Given the description of an element on the screen output the (x, y) to click on. 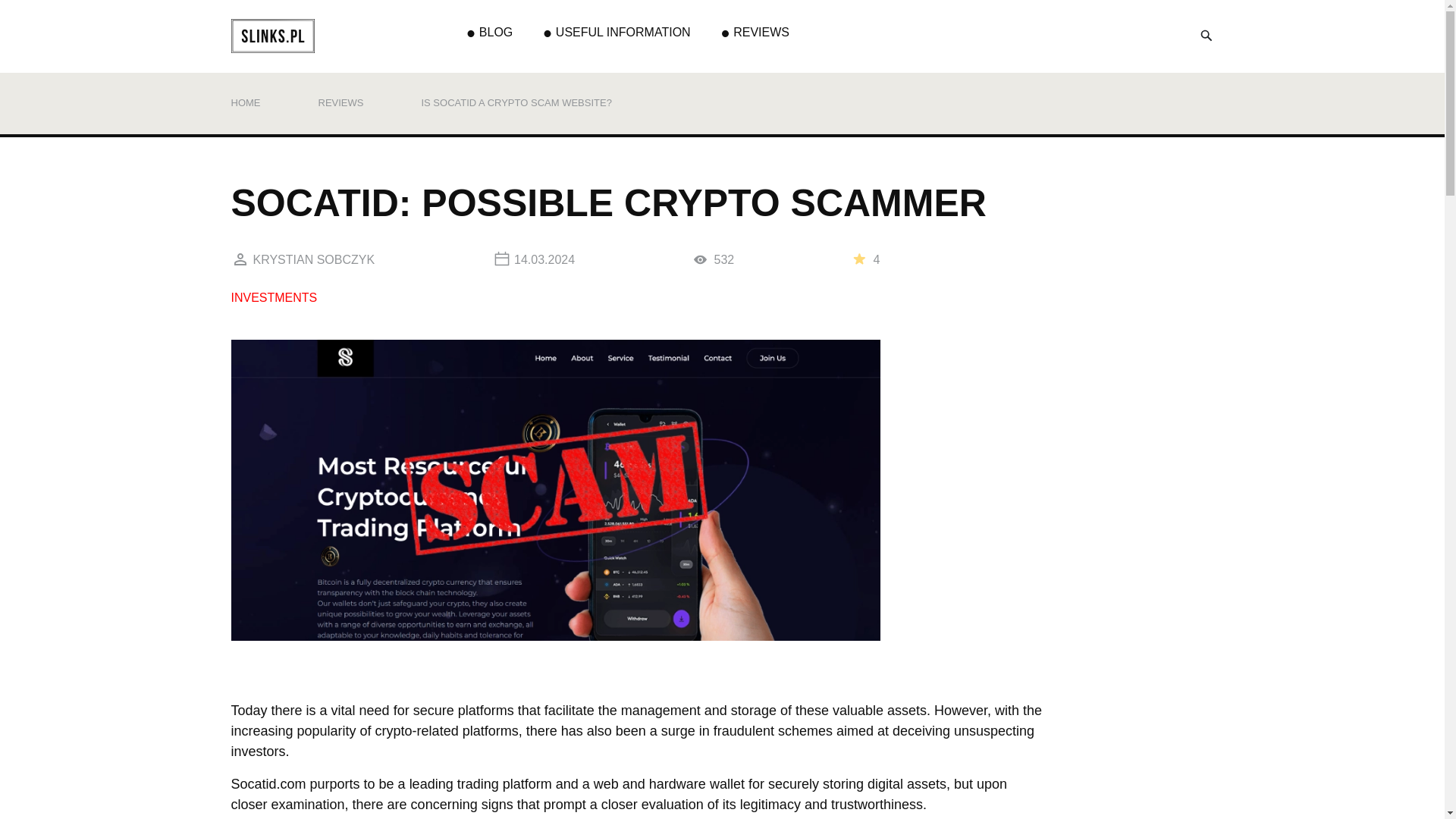
WATCHED (700, 259)
REVIEWS (341, 102)
cal (502, 258)
HOME (245, 102)
IS SOCATID A CRYPTO SCAM WEBSITE? (515, 102)
INVESTMENTS (273, 297)
Is Socatid a Crypto Scam Website? (515, 102)
star (859, 258)
HOME (245, 102)
Search (1205, 35)
